Given the description of an element on the screen output the (x, y) to click on. 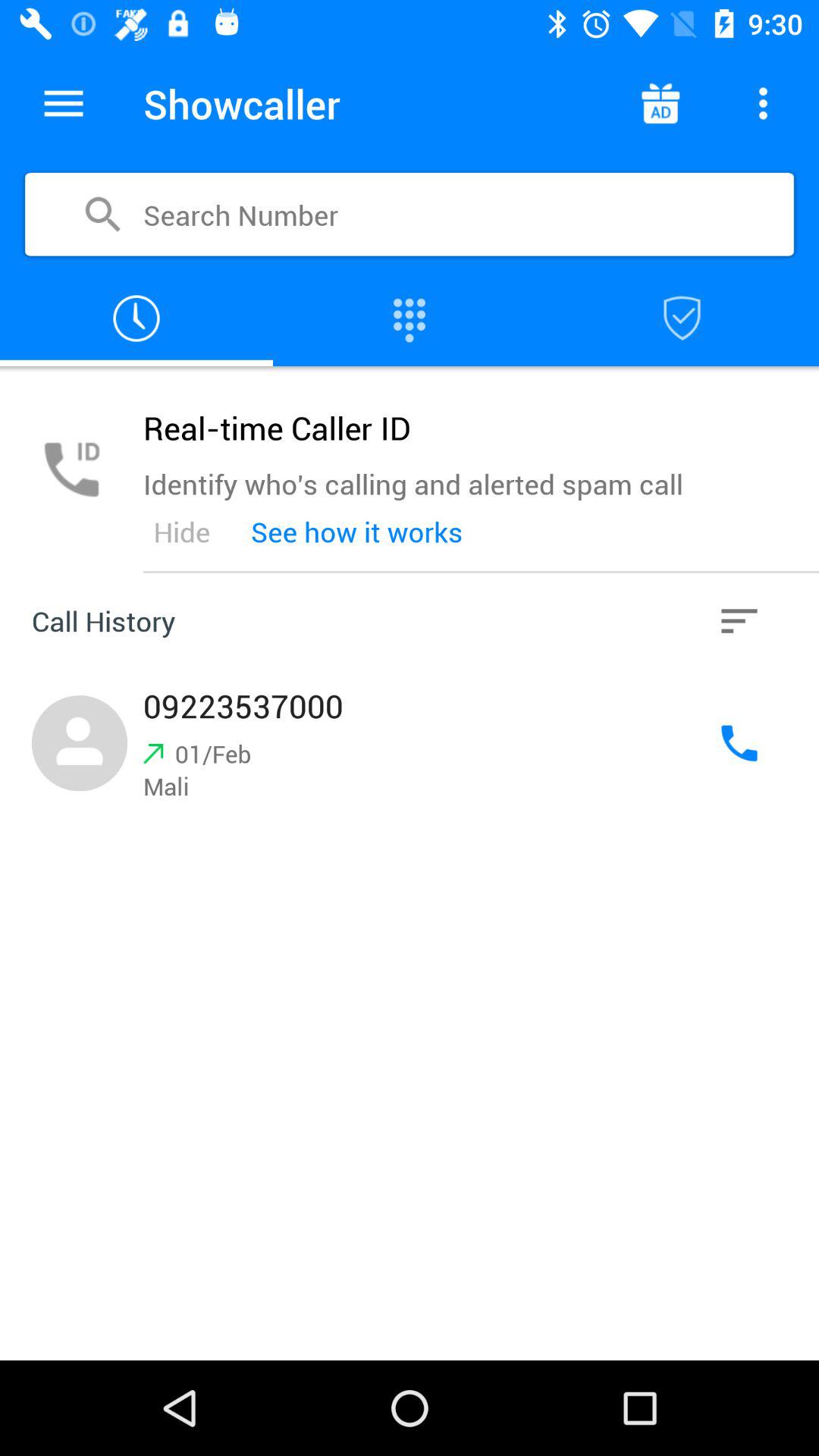
toggle advertisement (659, 103)
